Given the description of an element on the screen output the (x, y) to click on. 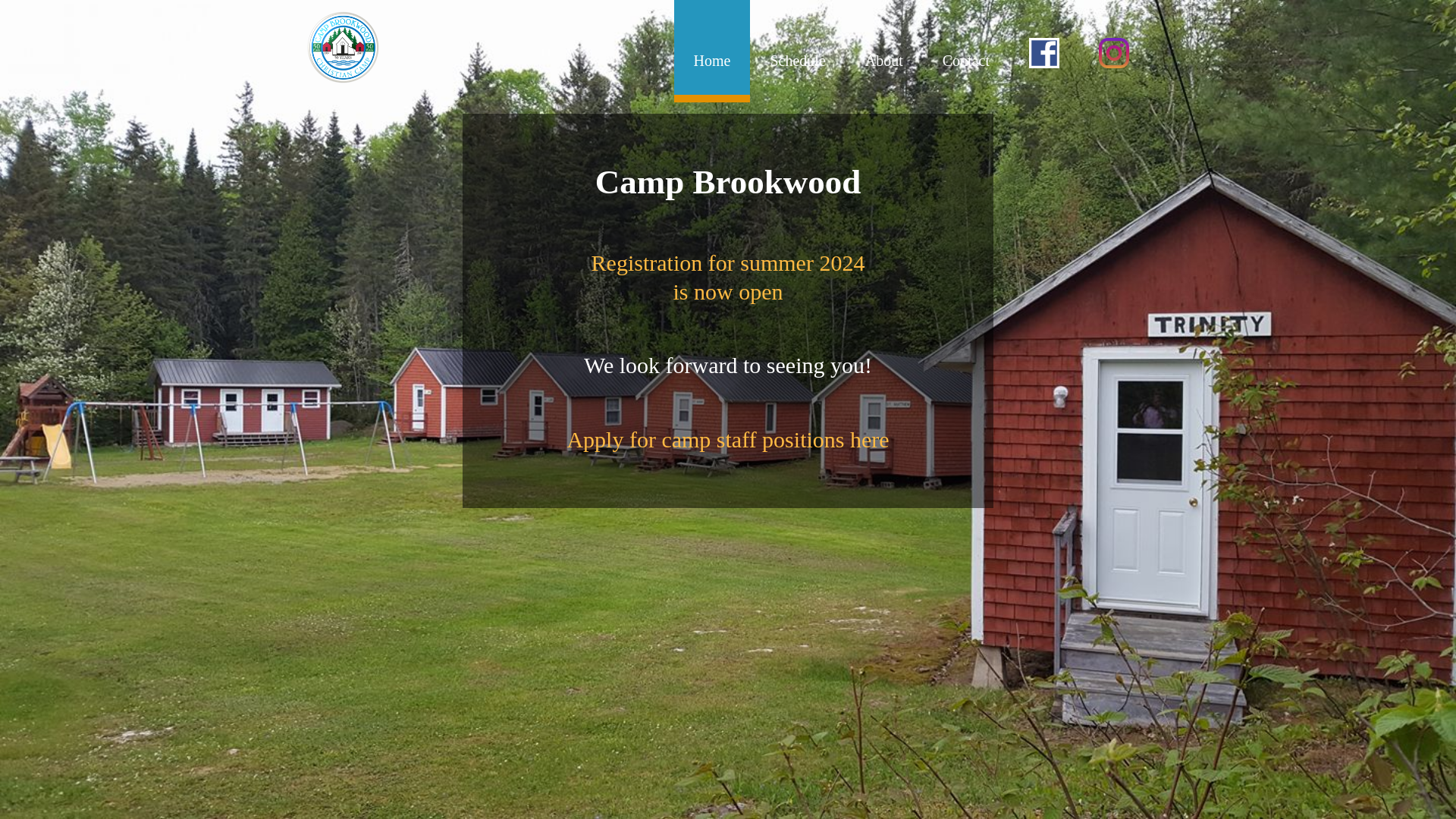
Contact (966, 47)
Contact (966, 47)
Schedule (727, 276)
Schedule (796, 47)
